Given the description of an element on the screen output the (x, y) to click on. 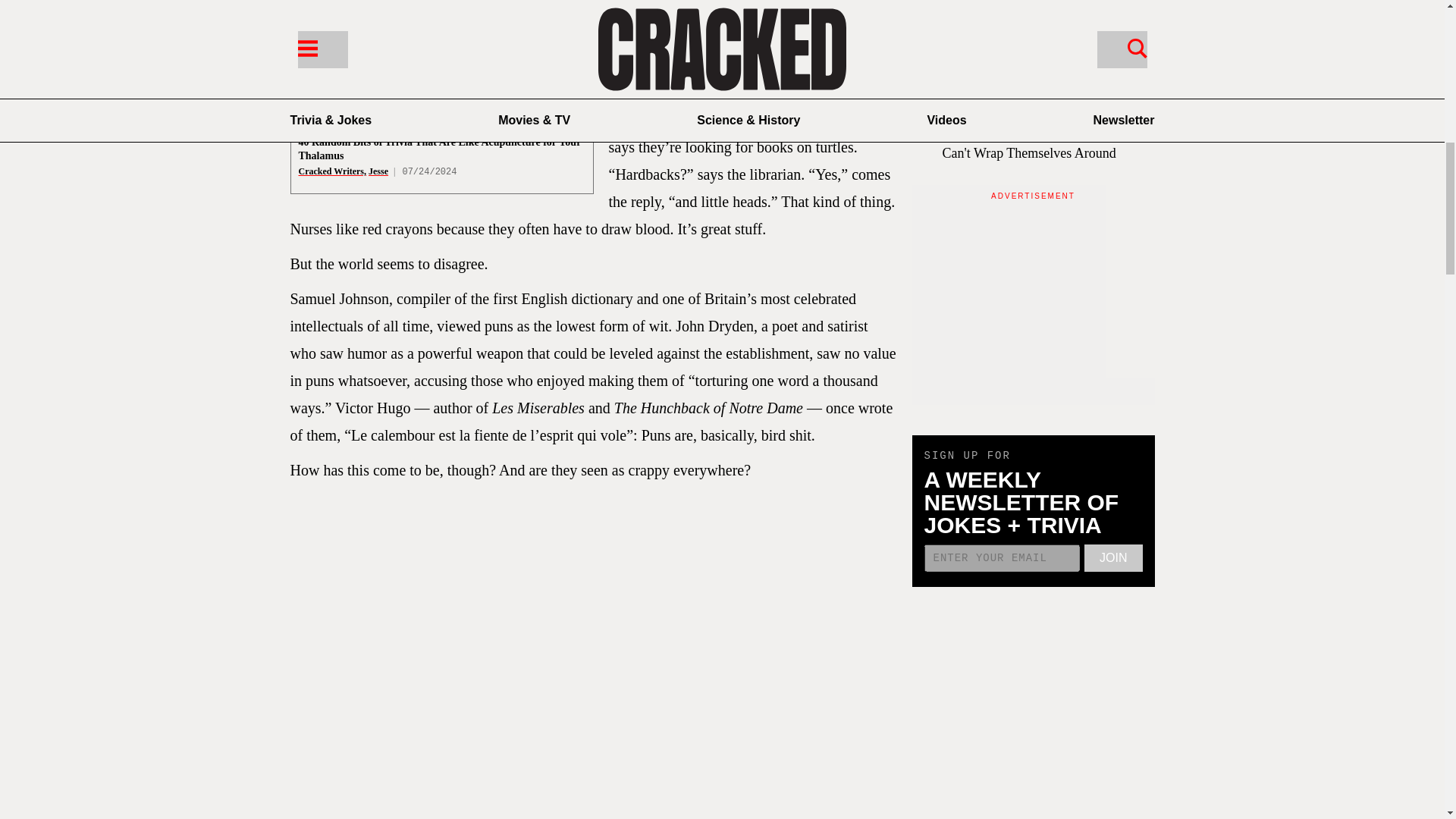
Cracked Plasticians (336, 113)
25 of the Funniest Tweets from Thursday, July 25, 2024 (423, 53)
How 22 Celebs Got Their Stage Names (386, 98)
Cracked Writers, (332, 171)
Ian Garner (320, 69)
